Given the description of an element on the screen output the (x, y) to click on. 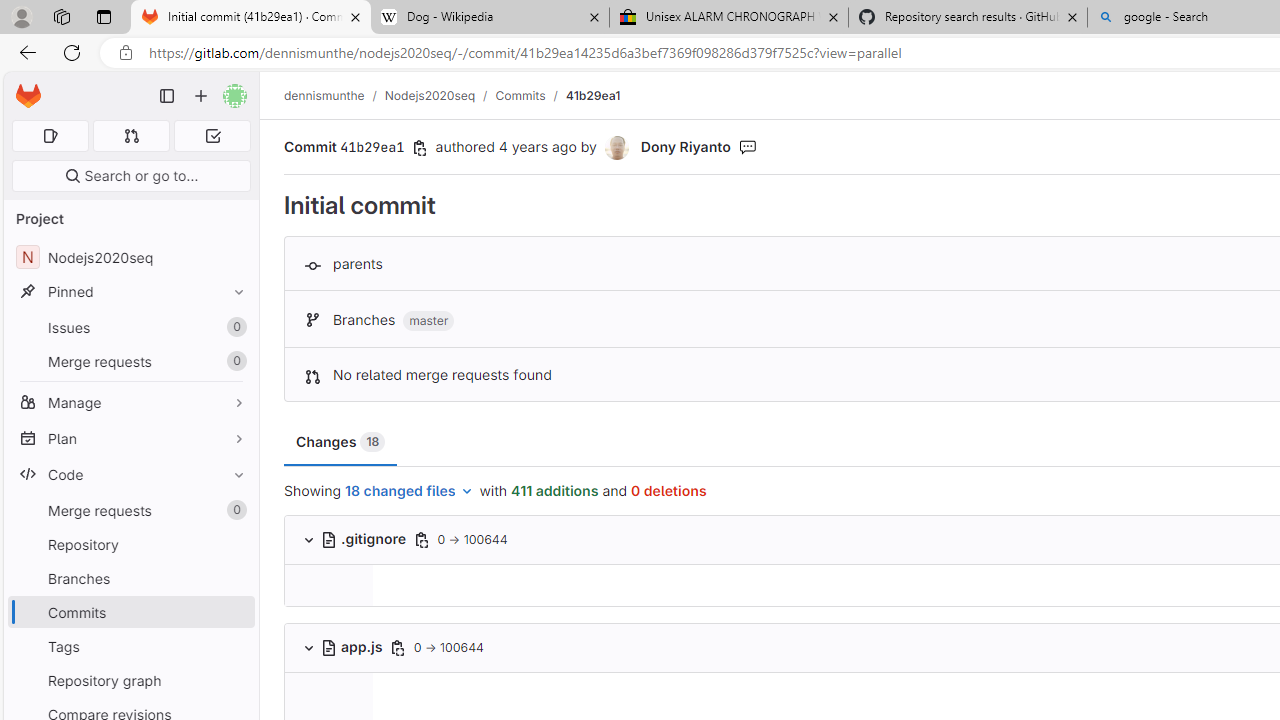
41b29ea1 (592, 95)
Nodejs2020seq (430, 95)
Repository (130, 543)
Pin Repository graph (234, 680)
Class: s16 gl-icon gl-button-icon  (397, 647)
dennismunthe (324, 95)
Changes 18 (341, 442)
Dony Riyanto's avatar (616, 148)
Code (130, 474)
